Given the description of an element on the screen output the (x, y) to click on. 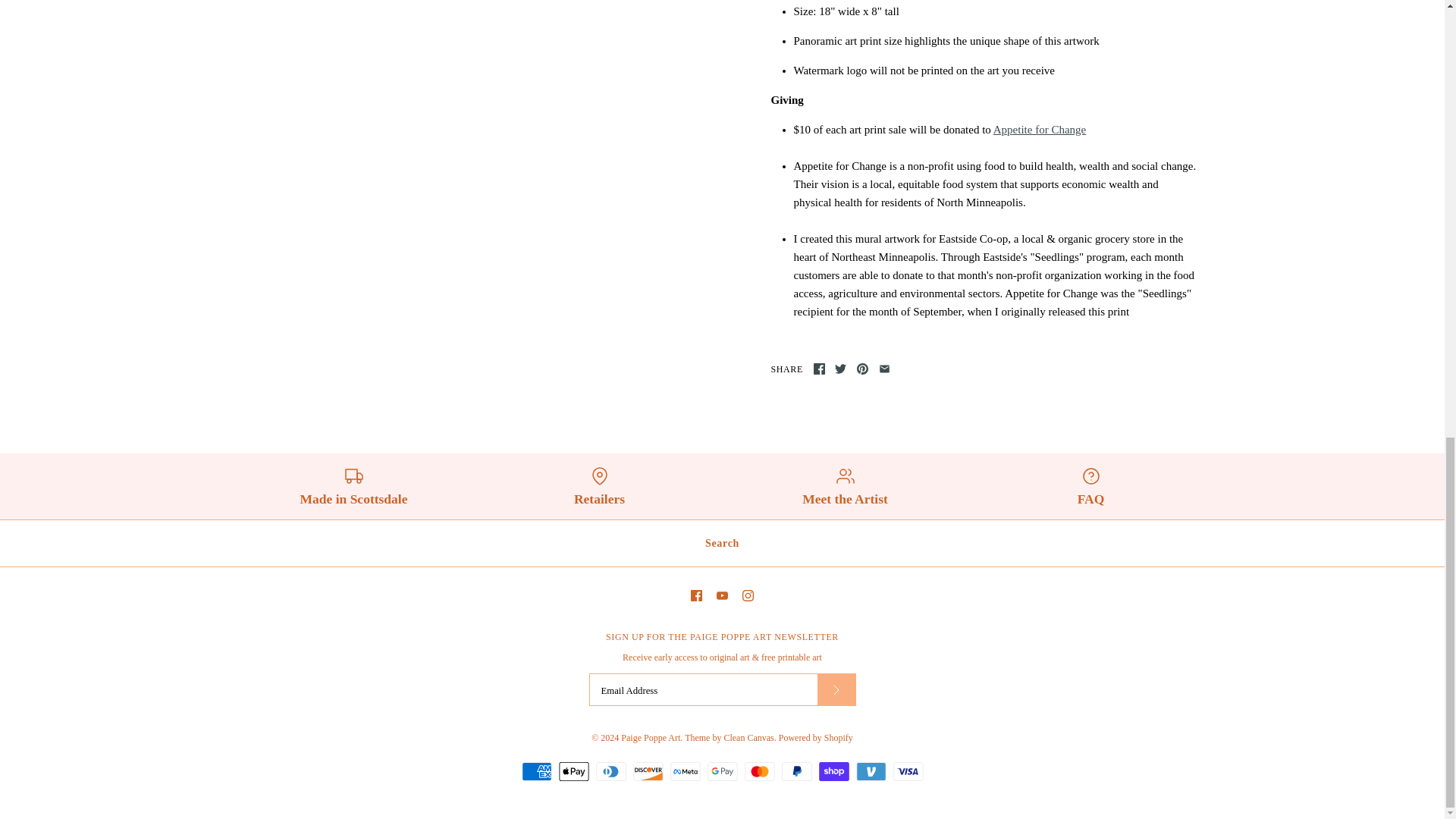
Facebook (695, 595)
Diners Club (610, 771)
Facebook (819, 368)
Apple Pay (572, 771)
Share on Facebook (819, 368)
Email (884, 368)
Pin the main image (862, 368)
Discover (646, 771)
Youtube (722, 595)
Instagram (748, 595)
Share on Twitter (839, 368)
American Express (536, 771)
Pinterest (862, 368)
Twitter (839, 368)
